Given the description of an element on the screen output the (x, y) to click on. 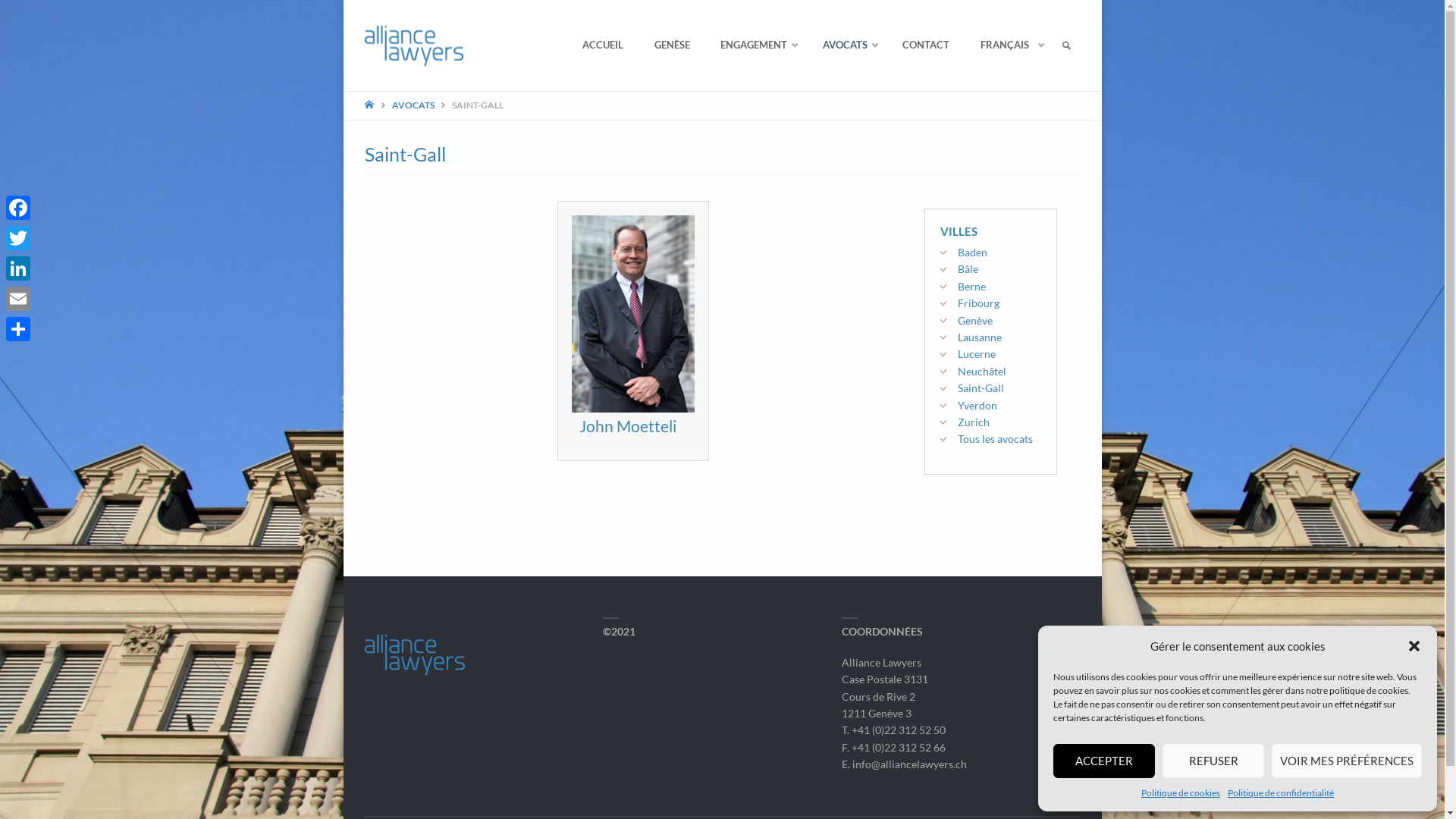
Saint-Gall Element type: text (980, 387)
Yverdon Element type: text (976, 404)
Alliance Lawyers Element type: hover (413, 44)
Facebook Element type: text (18, 207)
Fribourg Element type: text (977, 302)
Zurich Element type: text (972, 421)
Tous les avocats Element type: text (994, 438)
LinkedIn Element type: text (18, 268)
AVOCATS Element type: text (413, 104)
Twitter Element type: text (18, 237)
Lausanne Element type: text (979, 336)
AVOCATS Element type: text (847, 45)
ACCEPTER Element type: text (1103, 760)
Lucerne Element type: text (975, 353)
REFUSER Element type: text (1213, 760)
ENGAGEMENT Element type: text (756, 45)
ACCUEIL Element type: text (602, 45)
Home Element type: hover (369, 104)
Berne Element type: text (971, 285)
Baden Element type: text (971, 251)
Email Element type: text (18, 298)
ALLIANCE LAWYERS Element type: text (504, 21)
John Moetteli Element type: text (627, 425)
CONTACT Element type: text (925, 45)
Politique de cookies Element type: text (1180, 792)
Partager Element type: text (18, 328)
